Given the description of an element on the screen output the (x, y) to click on. 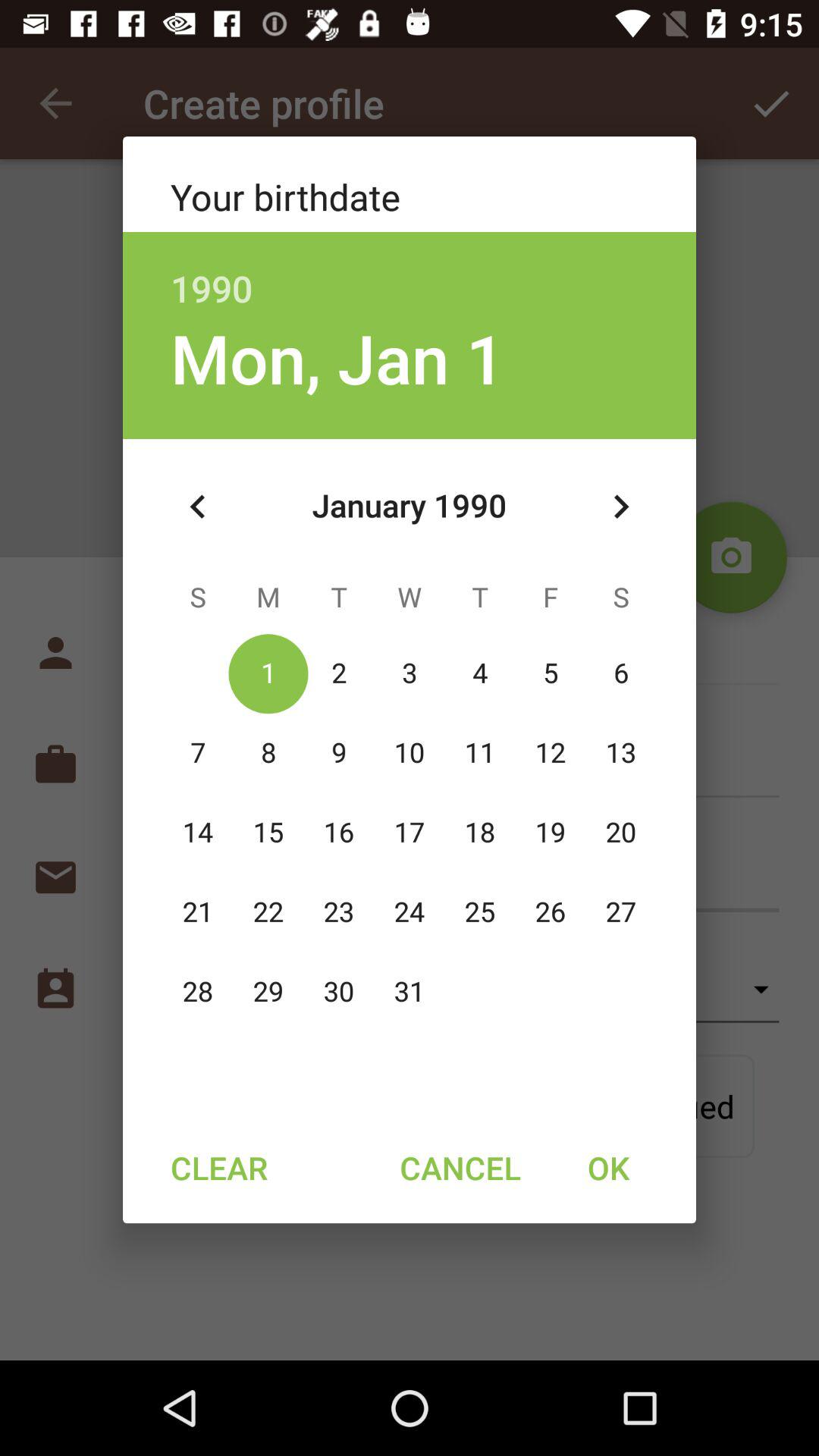
tap 1990 icon (409, 272)
